Given the description of an element on the screen output the (x, y) to click on. 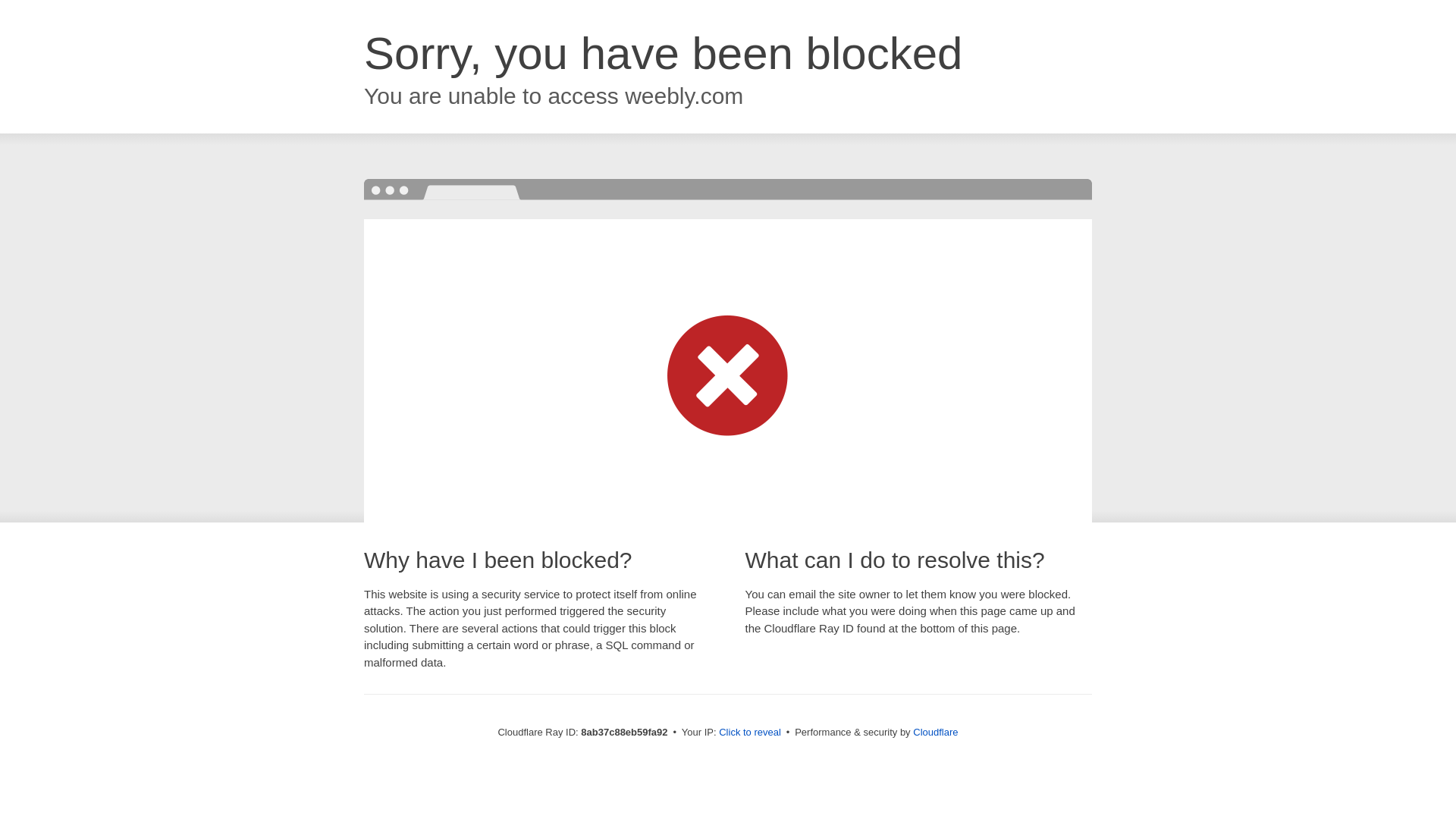
Cloudflare (935, 731)
Click to reveal (749, 732)
